Given the description of an element on the screen output the (x, y) to click on. 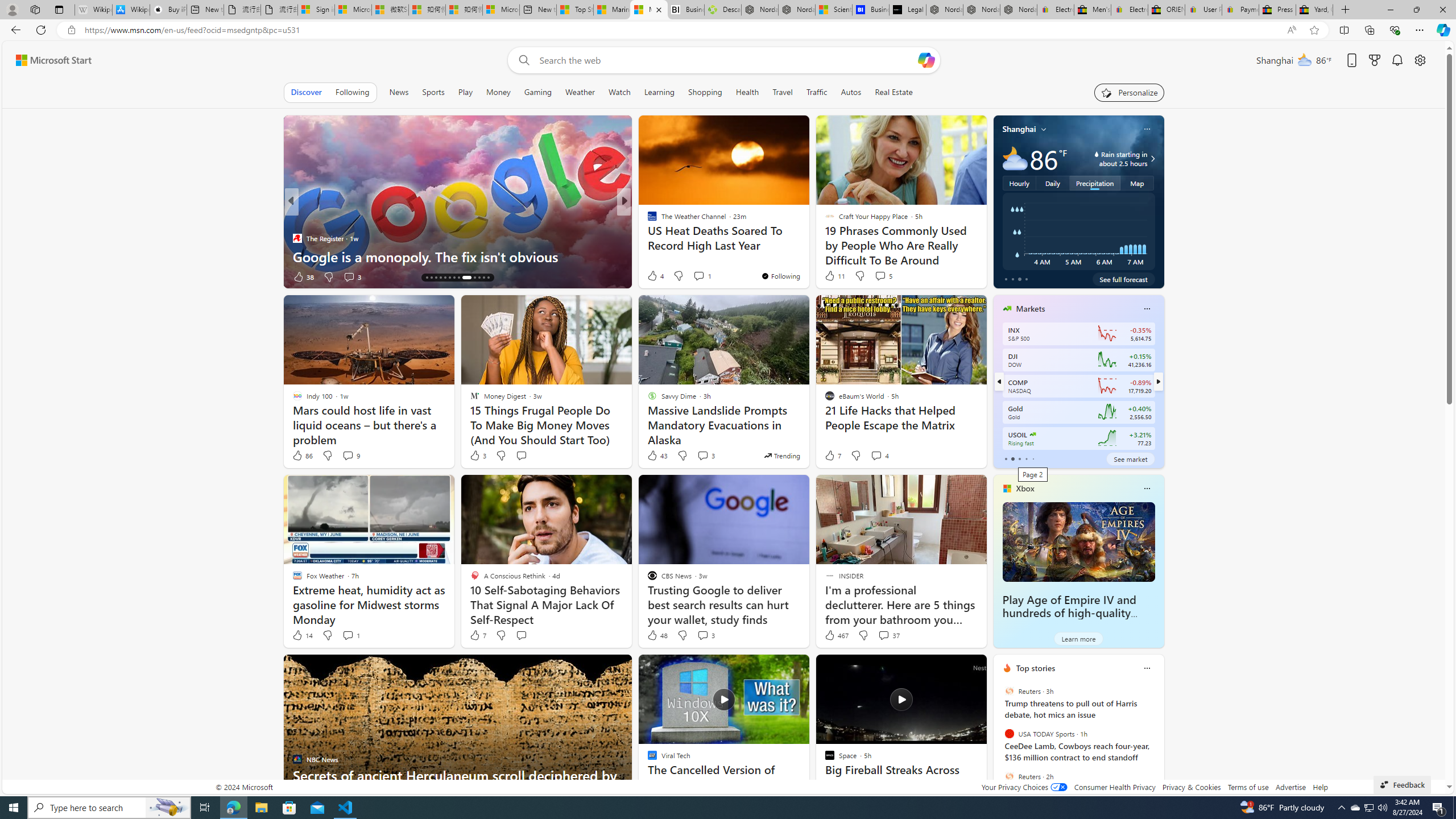
BBC (647, 219)
Class: weather-arrow-glyph (1152, 158)
ChaChingQueen (647, 219)
USA TODAY Sports (1008, 733)
